Given the description of an element on the screen output the (x, y) to click on. 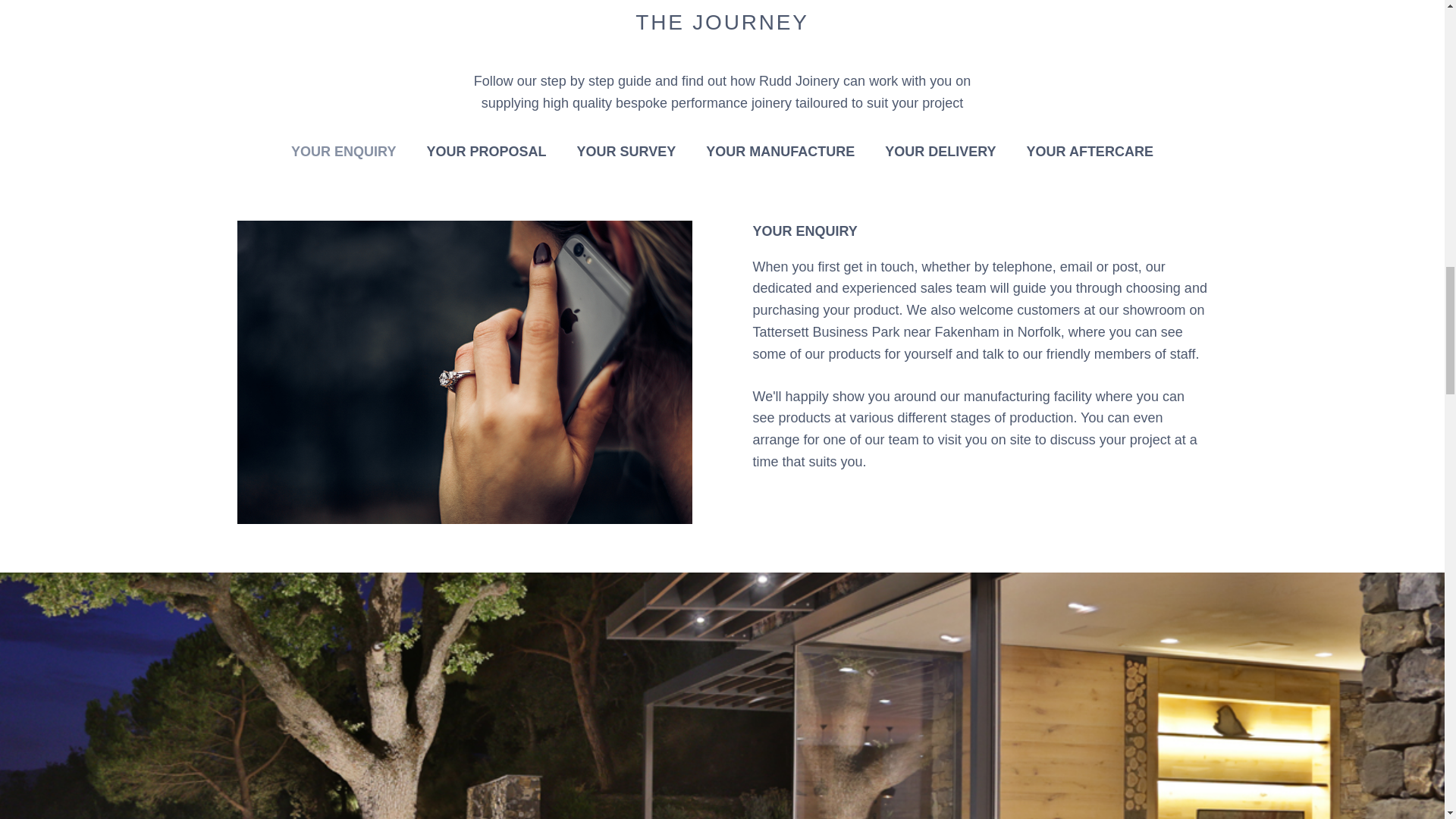
YOUR SURVEY (625, 151)
YOUR ENQUIRY (343, 151)
YOUR AFTERCARE (1089, 151)
YOUR DELIVERY (940, 151)
YOUR MANUFACTURE (780, 151)
YOUR PROPOSAL (486, 151)
